Given the description of an element on the screen output the (x, y) to click on. 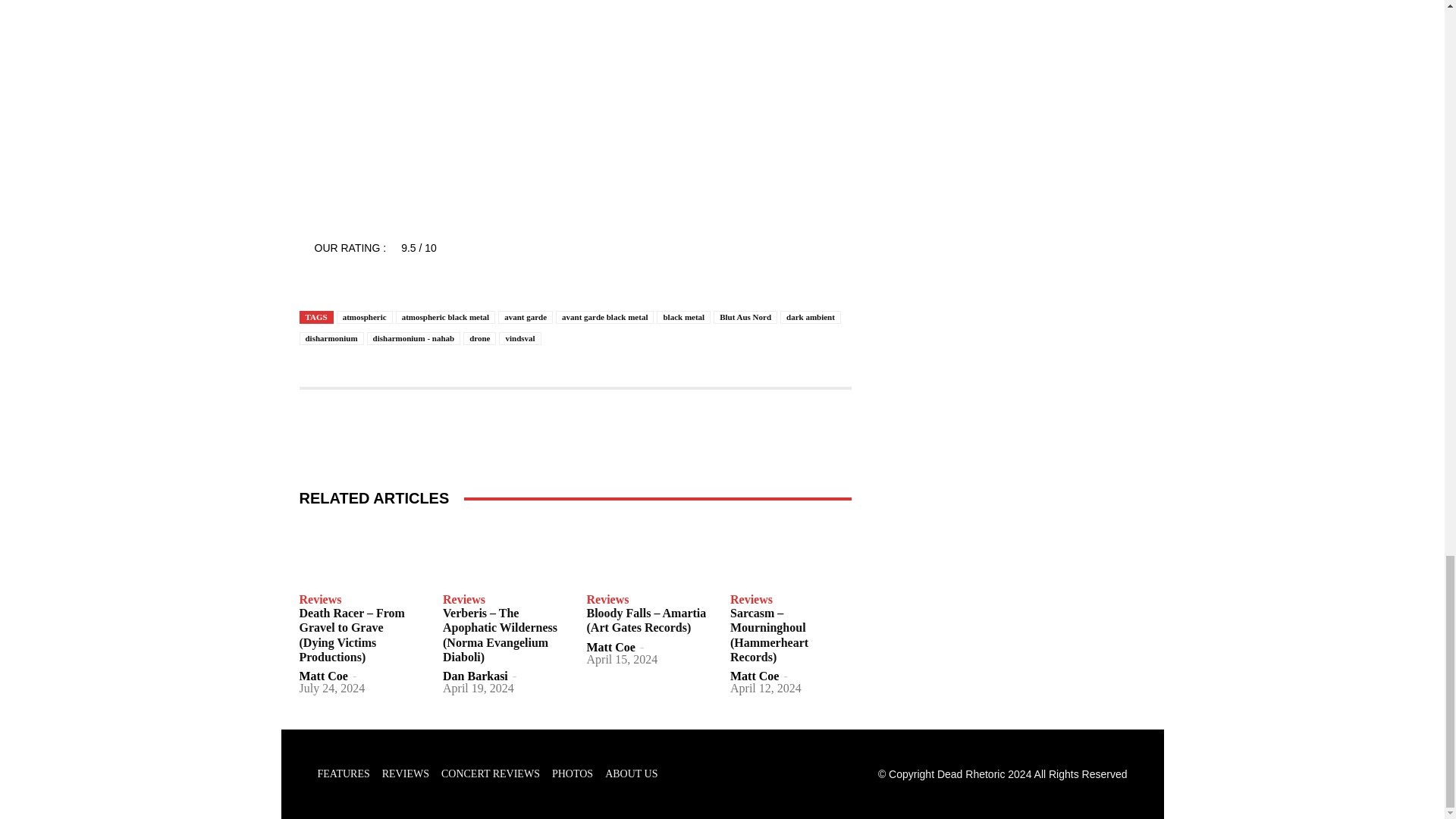
black metal (683, 317)
avant garde black metal (604, 317)
disharmonium (330, 338)
vindsval (519, 338)
disharmonium - nahab (413, 338)
Blut Aus Nord (745, 317)
YouTube video player (407, 88)
dark ambient (810, 317)
Reviews (319, 599)
atmospheric (364, 317)
avant garde (525, 317)
atmospheric black metal (445, 317)
drone (479, 338)
